Given the description of an element on the screen output the (x, y) to click on. 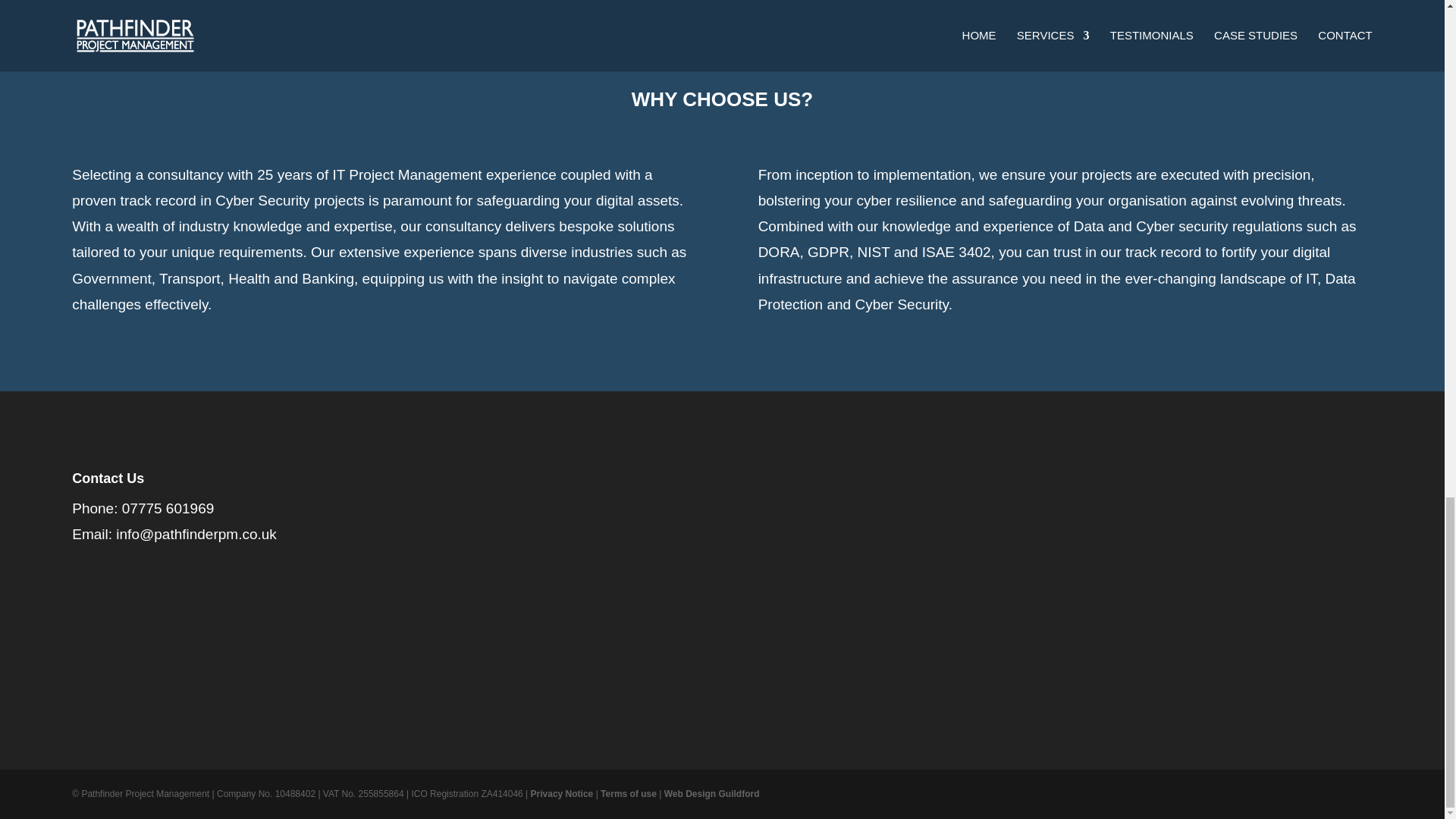
Privacy Notice (562, 793)
Terms of use (627, 793)
07775 601969 (168, 508)
Web Design Guildford (711, 793)
Web Design Guildford (711, 793)
